Given the description of an element on the screen output the (x, y) to click on. 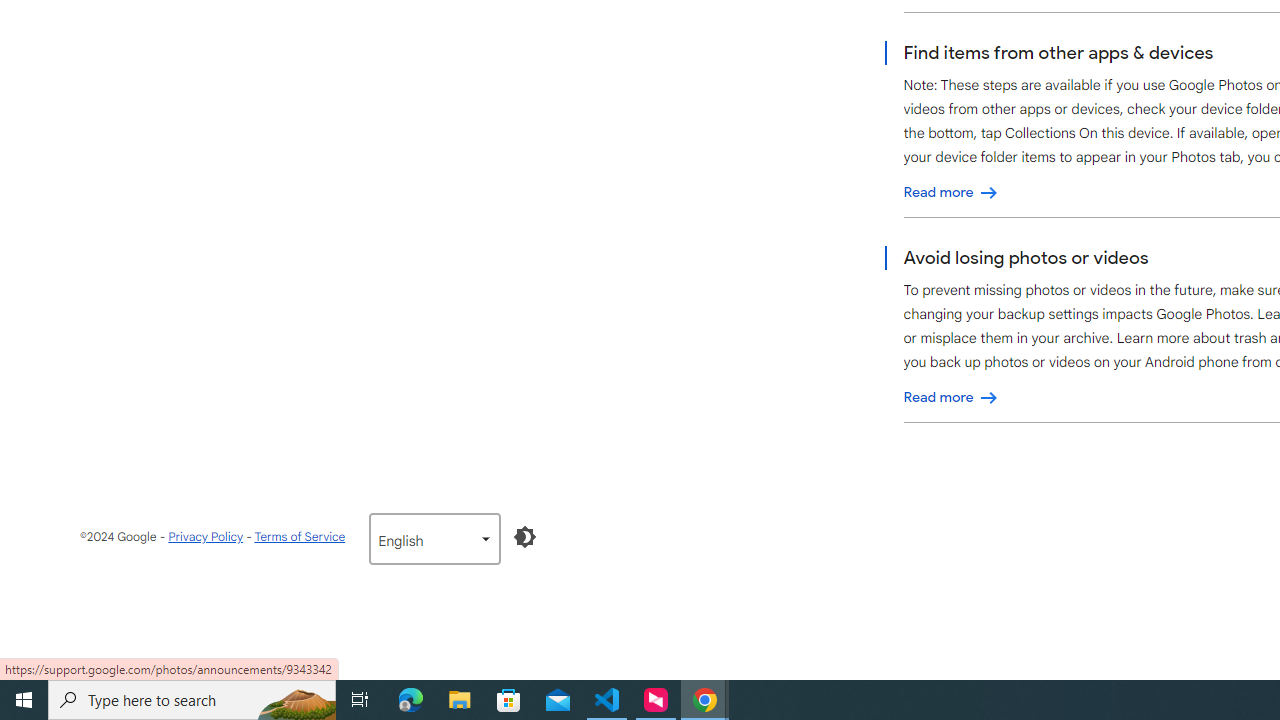
Enable Dark Mode (525, 536)
Avoid losing photos or videos (951, 397)
Find items from other apps & devices (951, 192)
